Given the description of an element on the screen output the (x, y) to click on. 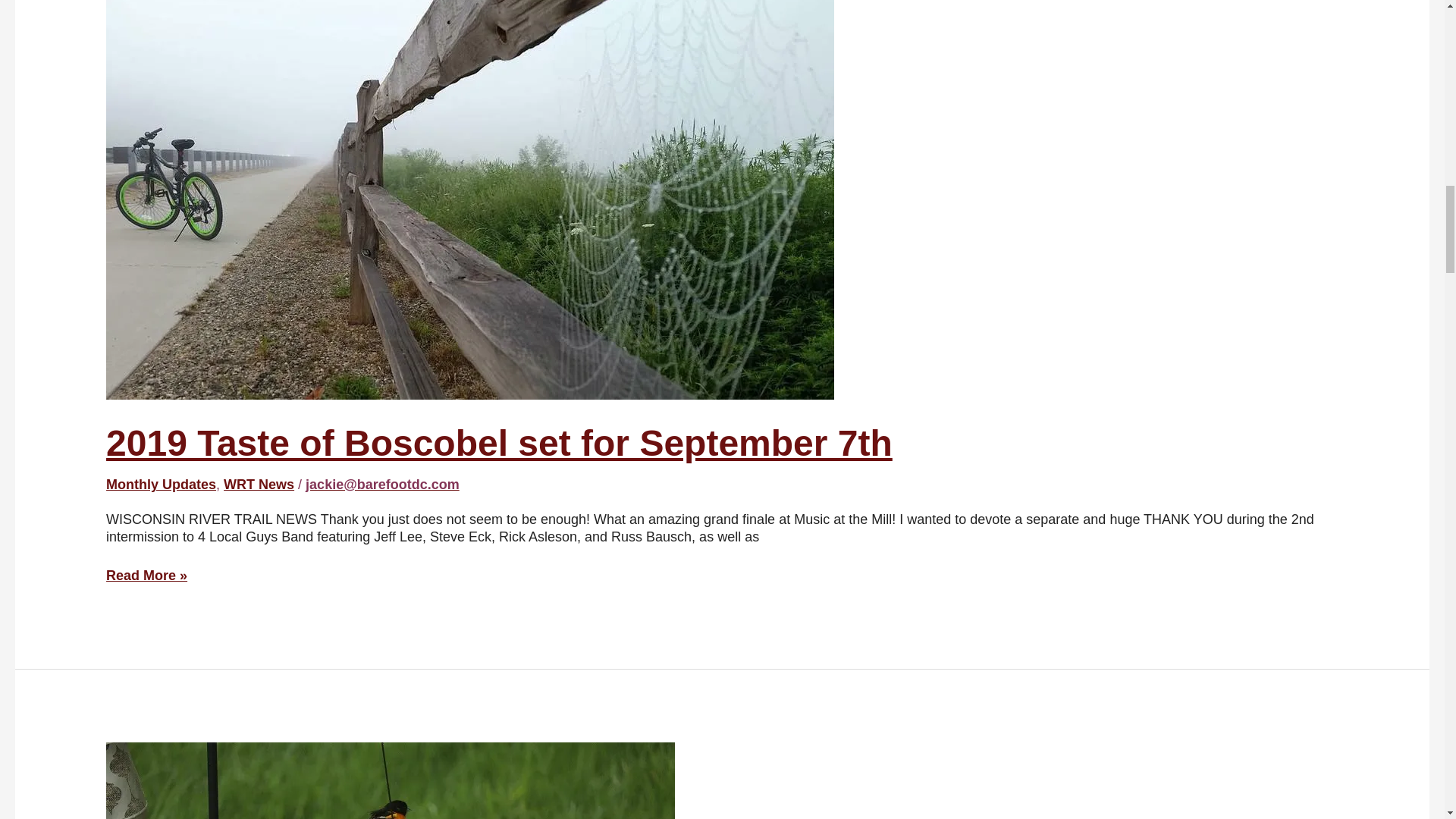
WRT News (259, 484)
Monthly Updates (160, 484)
2019 Taste of Boscobel set for September 7th (499, 443)
